Given the description of an element on the screen output the (x, y) to click on. 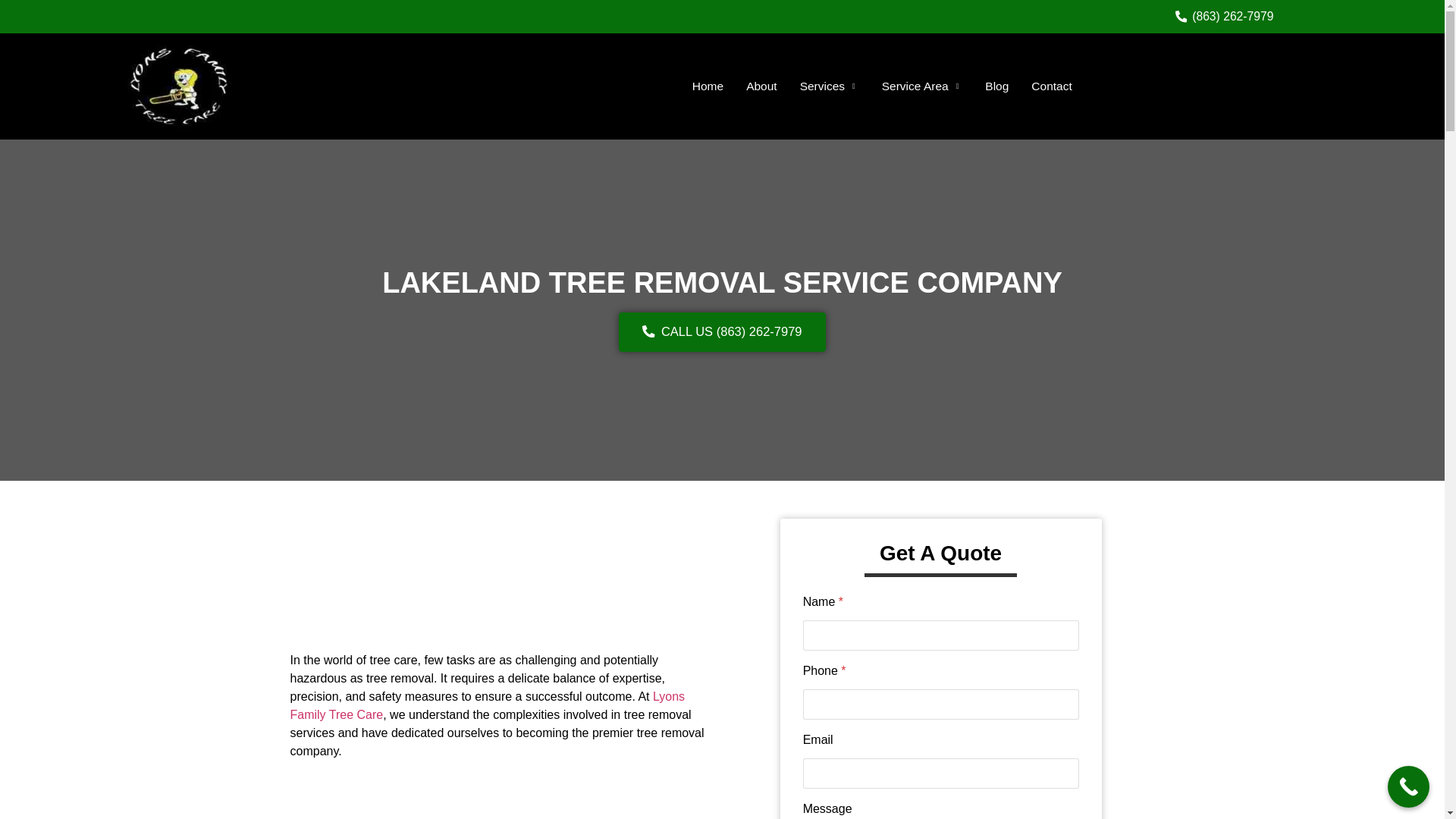
Contact (1051, 86)
Services (829, 86)
Service Area (922, 86)
Lyons Family Tree Care (486, 705)
About (762, 86)
Home (708, 86)
Blog (997, 86)
